Given the description of an element on the screen output the (x, y) to click on. 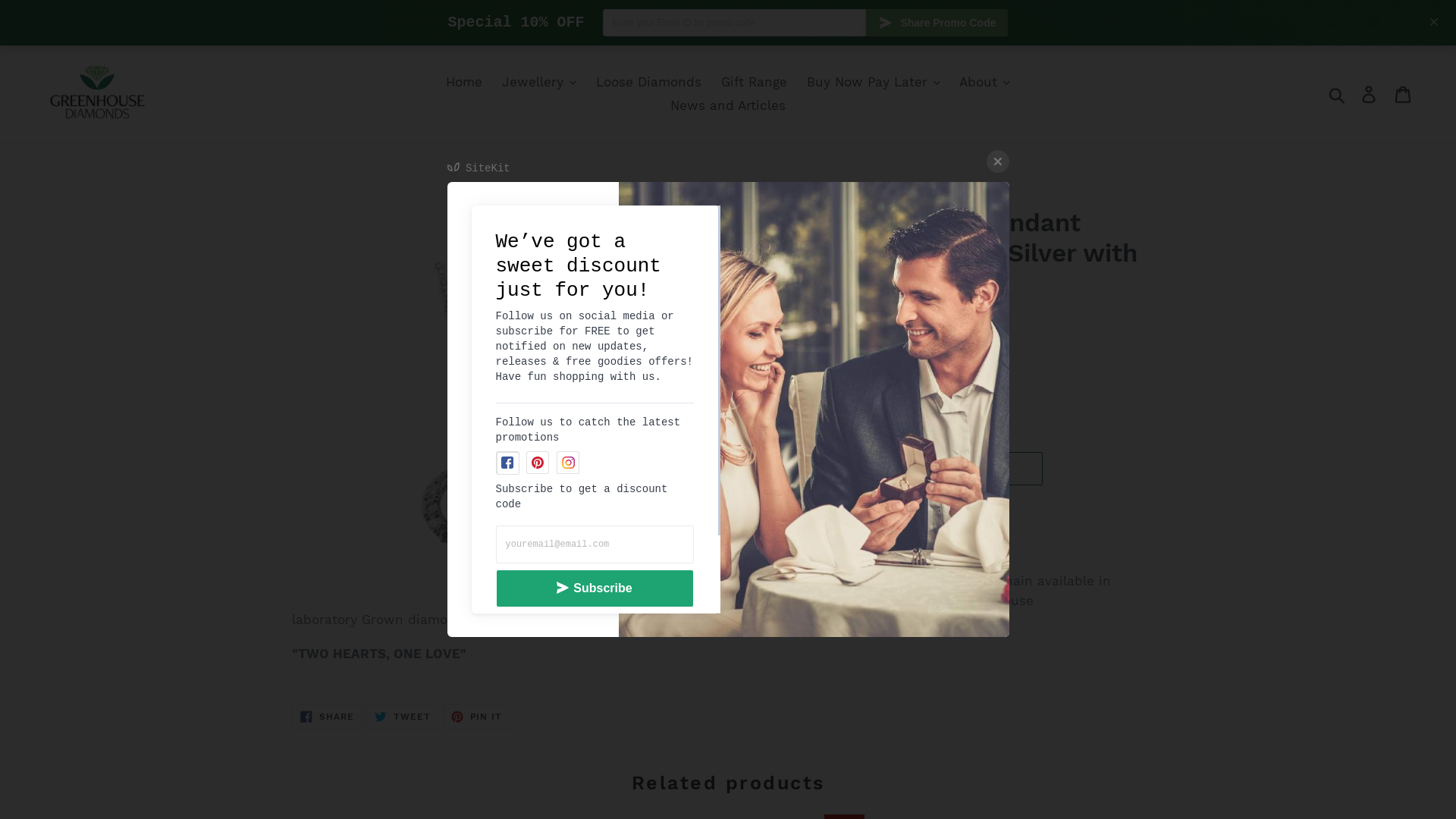
ADD TO CART Element type: text (890, 468)
Gift Range Element type: text (753, 82)
Loose Diamonds Element type: text (648, 82)
Cart Element type: text (1403, 93)
Toggle Element type: hover (1433, 21)
Home Element type: text (463, 82)
Log in Element type: text (1369, 93)
News and Articles Element type: text (727, 106)
TWEET
TWEET ON TWITTER Element type: text (402, 716)
Submit Element type: text (1337, 93)
BUY IT NOW Element type: text (805, 516)
PIN IT
PIN ON PINTEREST Element type: text (476, 716)
SHARE
SHARE ON FACEBOOK Element type: text (326, 716)
Shipping calculated Element type: text (797, 342)
